Given the description of an element on the screen output the (x, y) to click on. 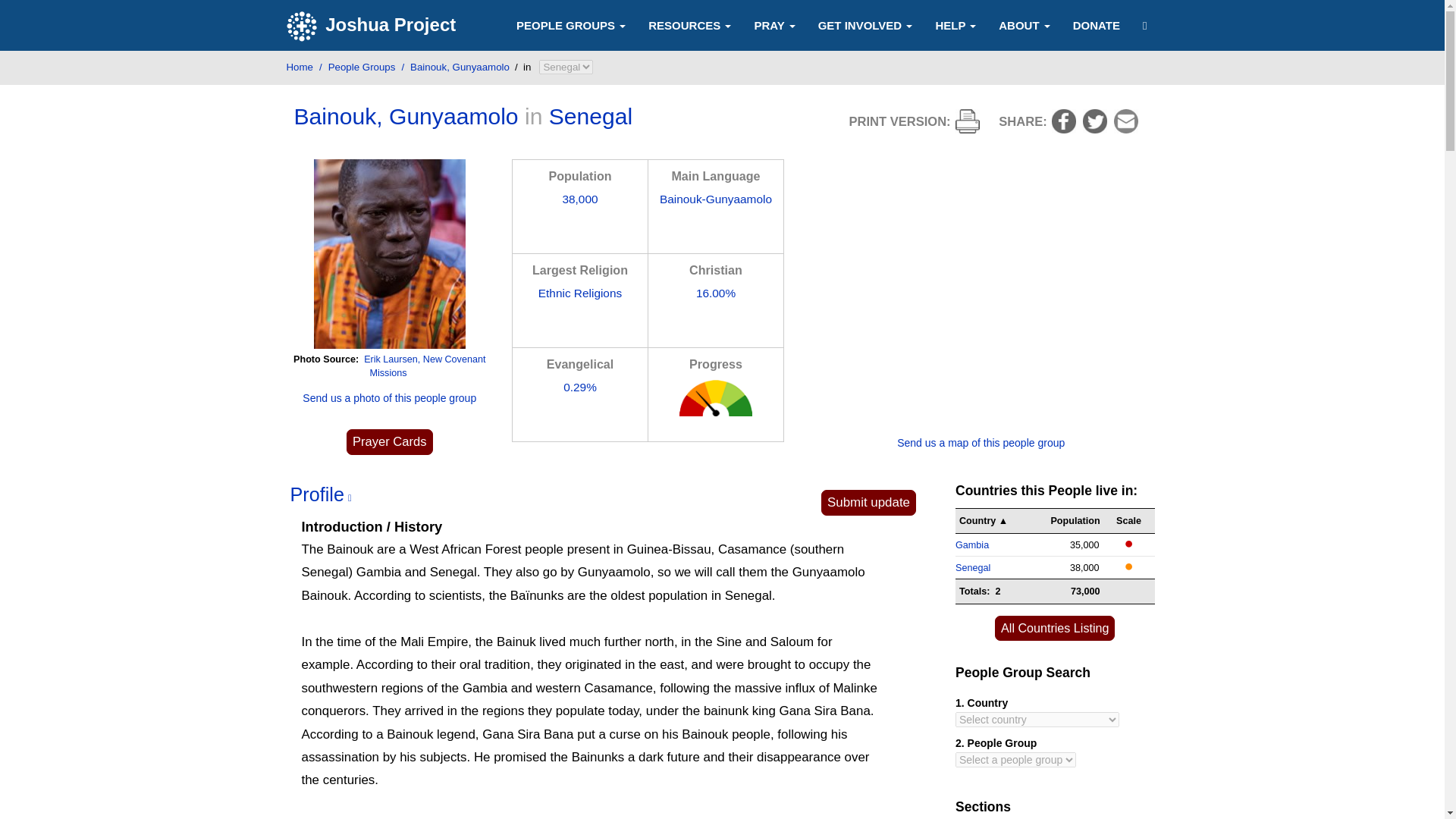
Joshua Project (373, 25)
PEOPLE GROUPS (571, 24)
RESOURCES (689, 24)
